Given the description of an element on the screen output the (x, y) to click on. 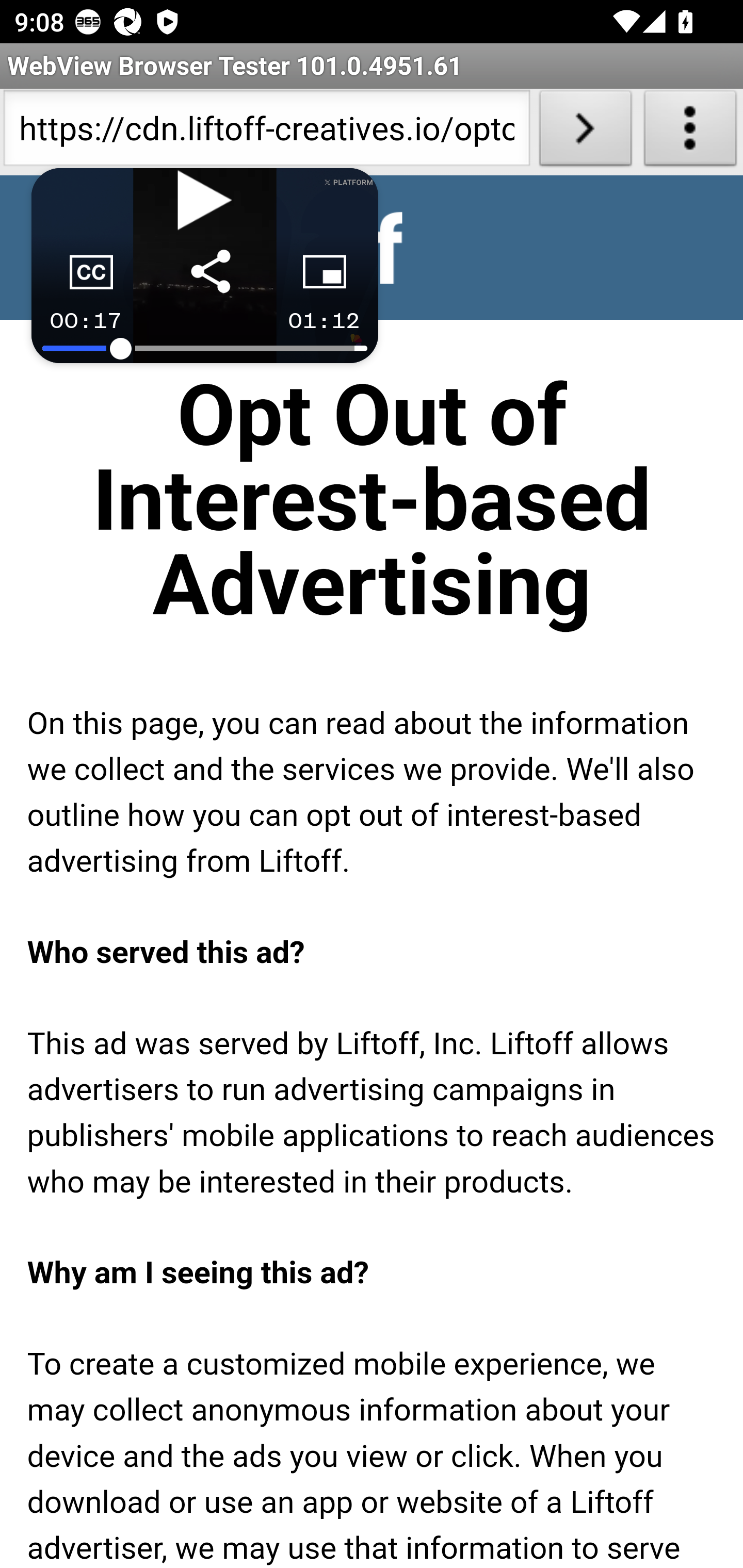
Load URL (585, 132)
About WebView (690, 132)
